Given the description of an element on the screen output the (x, y) to click on. 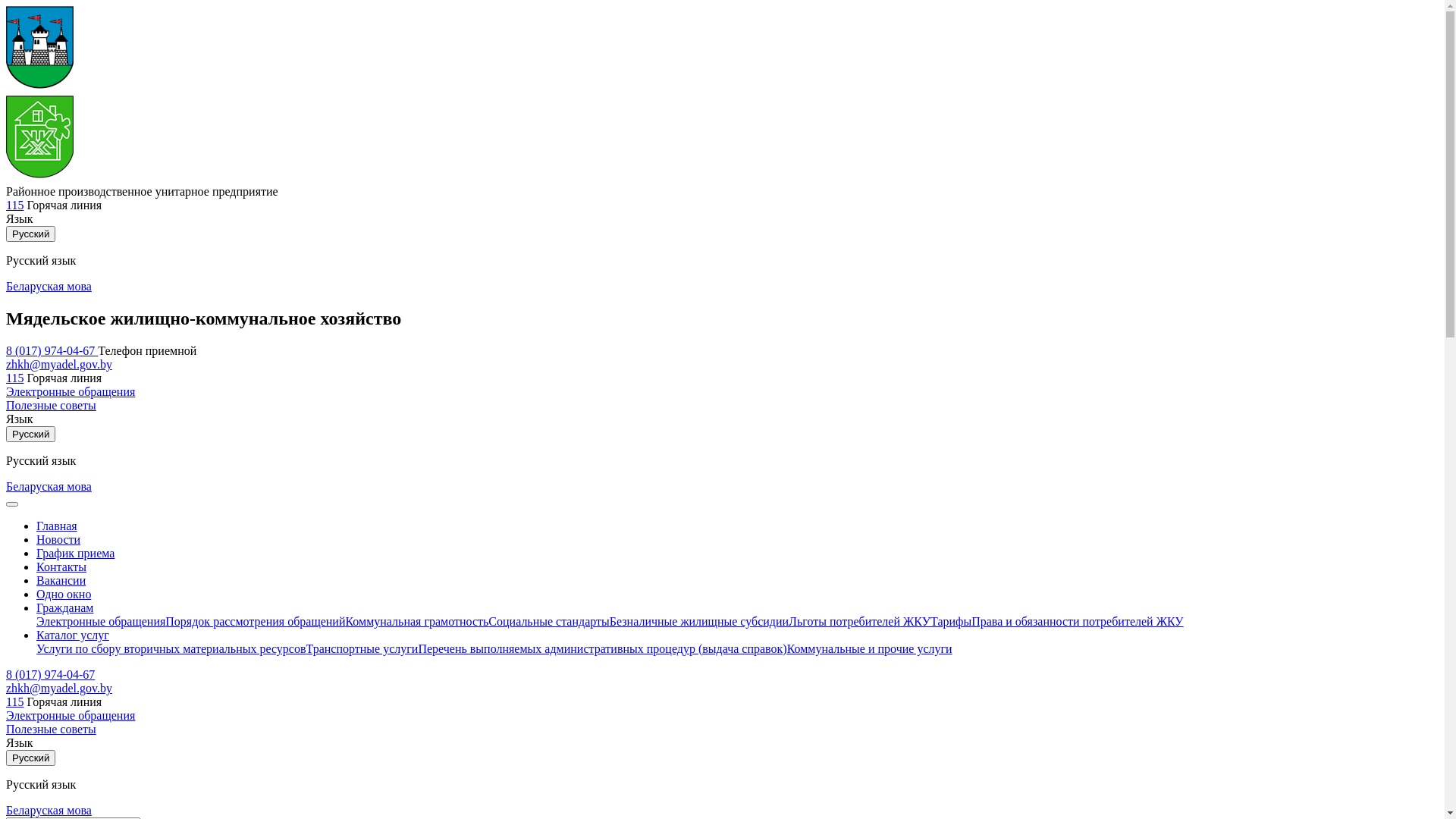
8 (017) 974-04-67 Element type: text (51, 350)
115 Element type: text (14, 377)
zhkh@myadel.gov.by Element type: text (59, 363)
8 (017) 974-04-67 Element type: text (50, 674)
zhkh@myadel.gov.by Element type: text (59, 687)
115 Element type: text (14, 701)
115 Element type: text (14, 204)
